Given the description of an element on the screen output the (x, y) to click on. 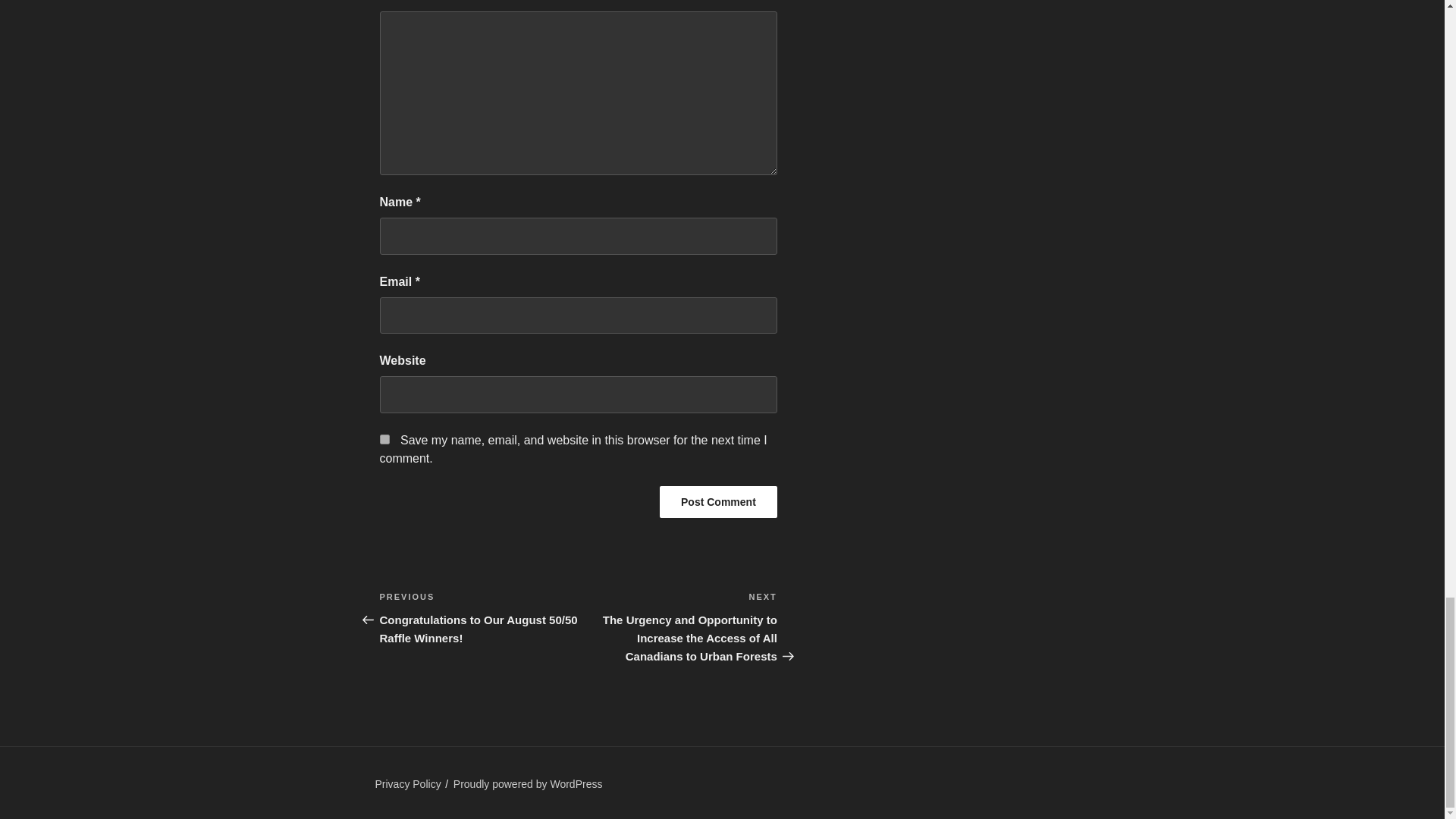
Post Comment (718, 501)
Post Comment (718, 501)
Proudly powered by WordPress (527, 784)
Privacy Policy (407, 784)
yes (383, 439)
